Given the description of an element on the screen output the (x, y) to click on. 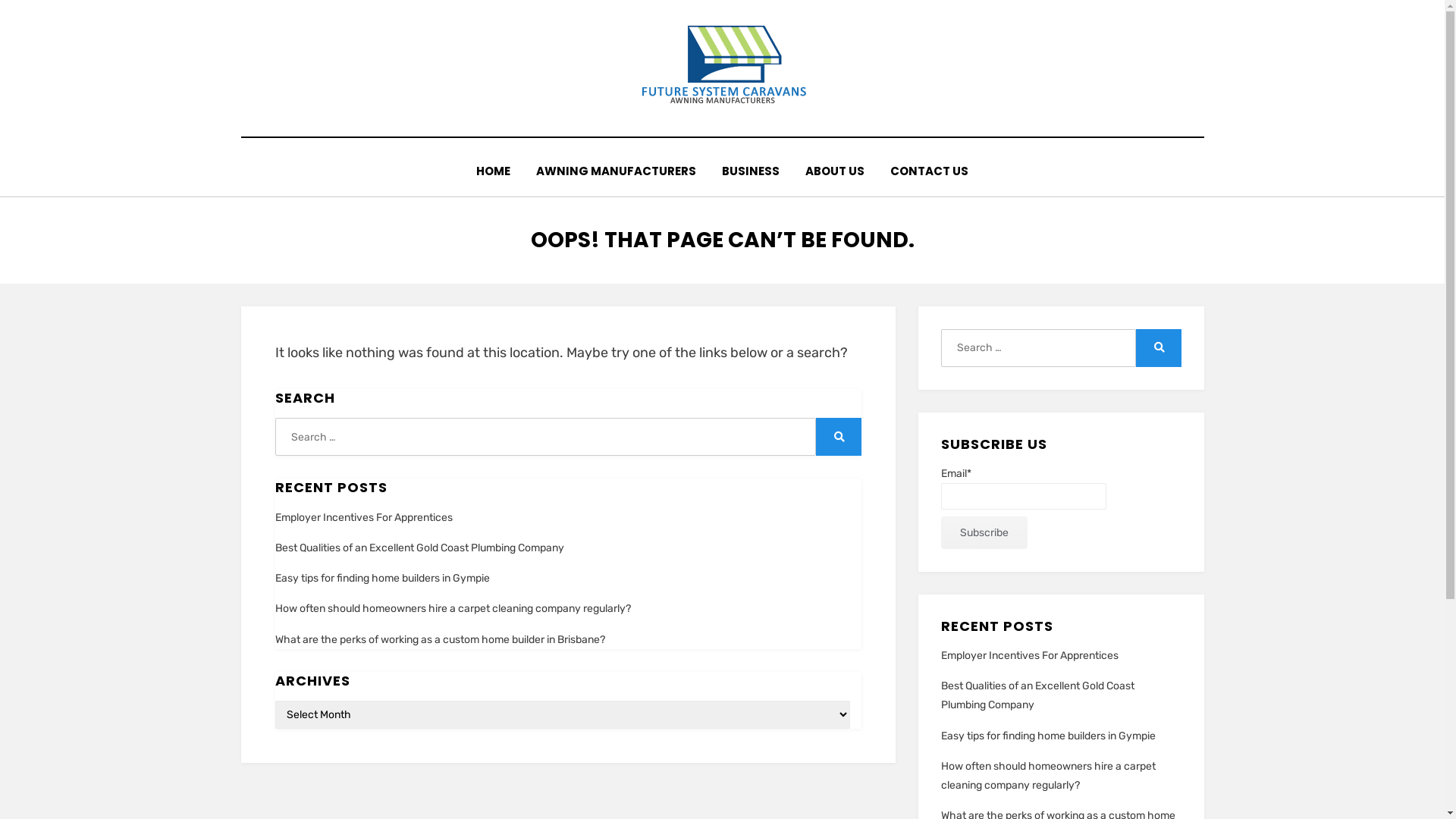
Subscribe Element type: text (984, 532)
Search Element type: text (1158, 348)
ABOUT US Element type: text (834, 170)
Search for: Element type: hover (544, 436)
Best Qualities of an Excellent Gold Coast Plumbing Company Element type: text (418, 547)
Easy tips for finding home builders in Gympie Element type: text (381, 577)
AWNING MANUFACTURERS Element type: text (616, 170)
HOME Element type: text (493, 170)
Easy tips for finding home builders in Gympie Element type: text (1048, 735)
CONTACT US Element type: text (929, 170)
Employer Incentives For Apprentices Element type: text (1029, 655)
Best Qualities of an Excellent Gold Coast Plumbing Company Element type: text (1037, 695)
Search Element type: text (838, 436)
Employer Incentives For Apprentices Element type: text (362, 517)
BUSINESS Element type: text (750, 170)
Search for: Element type: hover (1038, 348)
